Given the description of an element on the screen output the (x, y) to click on. 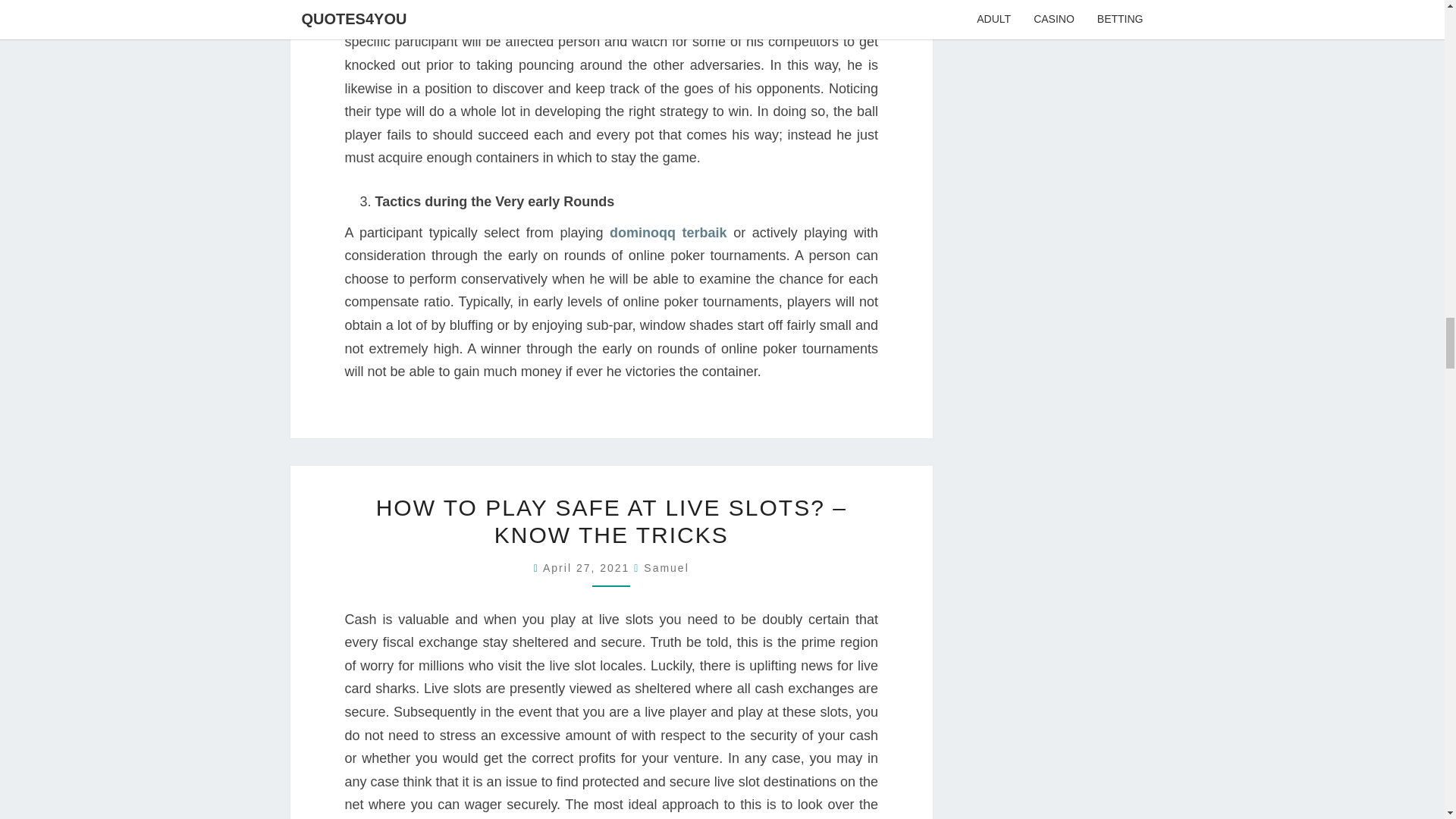
April 27, 2021 (588, 567)
4:15 am (588, 567)
View all posts by Samuel (665, 567)
dominoqq terbaik (668, 232)
Samuel (665, 567)
